Given the description of an element on the screen output the (x, y) to click on. 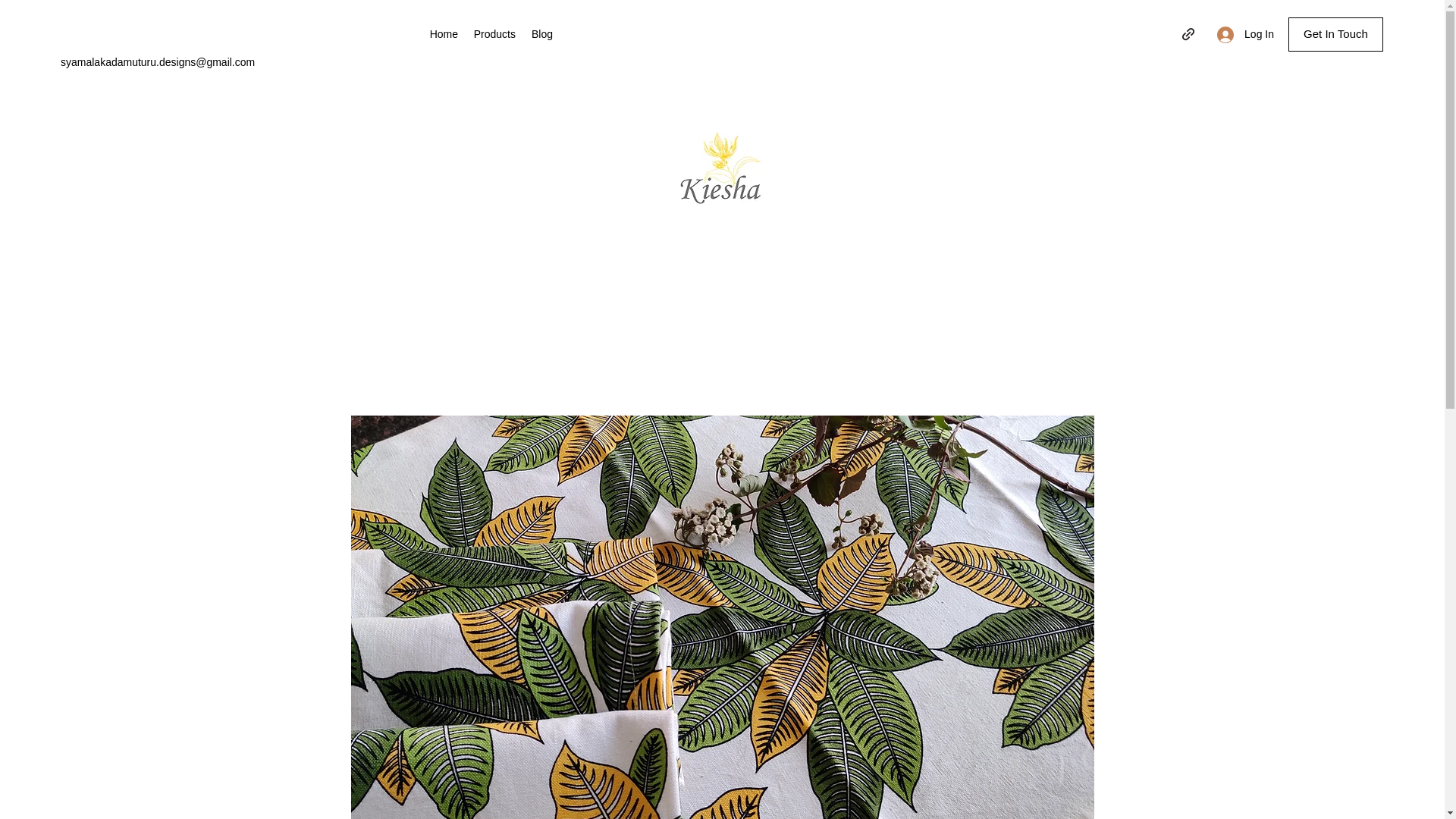
Home (443, 33)
Blog (541, 33)
Get In Touch (1335, 34)
Products (493, 33)
Log In (1245, 34)
